Given the description of an element on the screen output the (x, y) to click on. 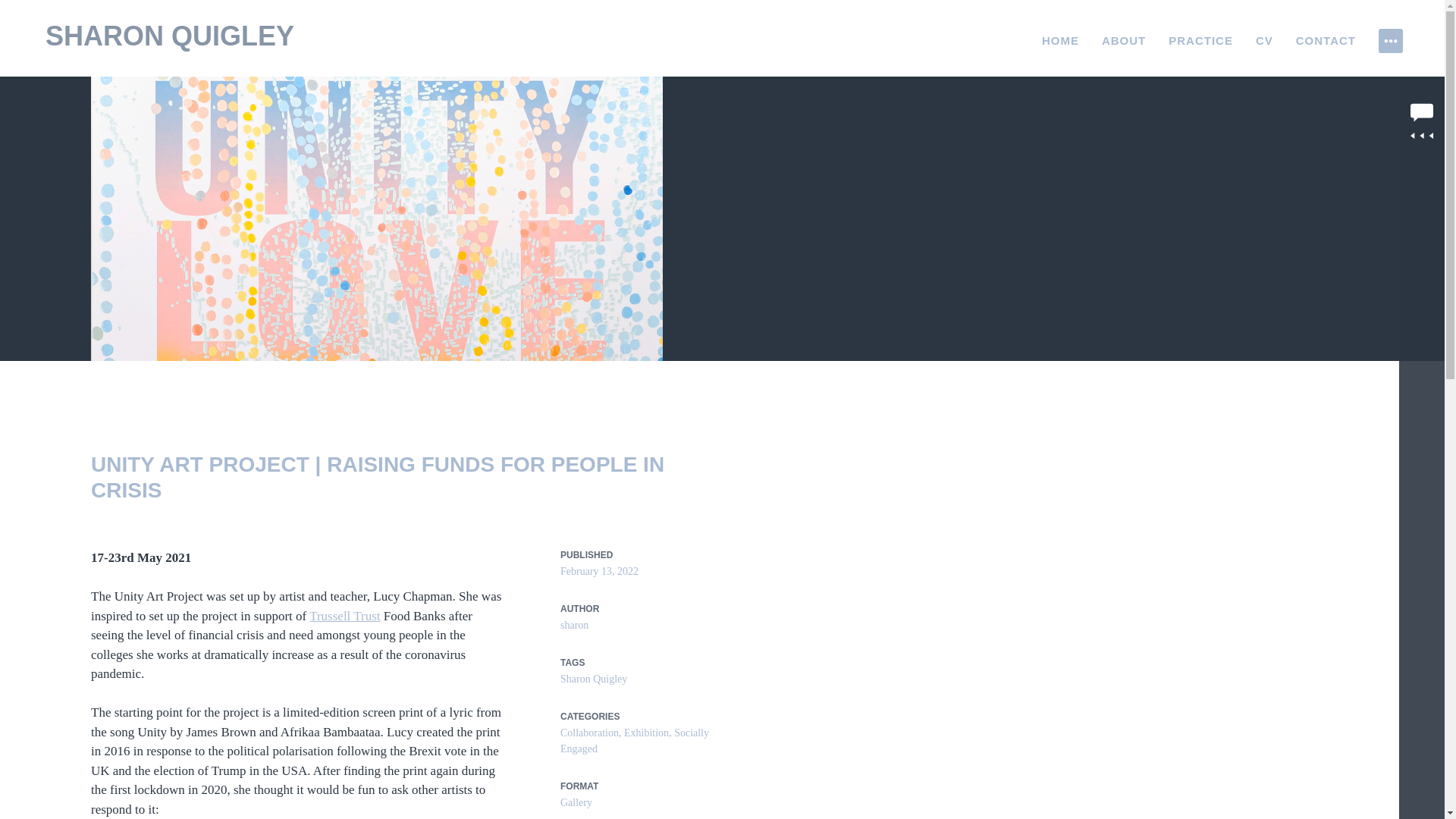
2008 (1254, 352)
PRACTICE (1201, 40)
Exhibition (646, 732)
ABOUT (1123, 40)
Trussell Trust (344, 616)
Resin Drawings (1254, 264)
2009 (1254, 330)
2011 (1254, 287)
2006 (1254, 395)
SHARON QUIGLEY (169, 35)
